Given the description of an element on the screen output the (x, y) to click on. 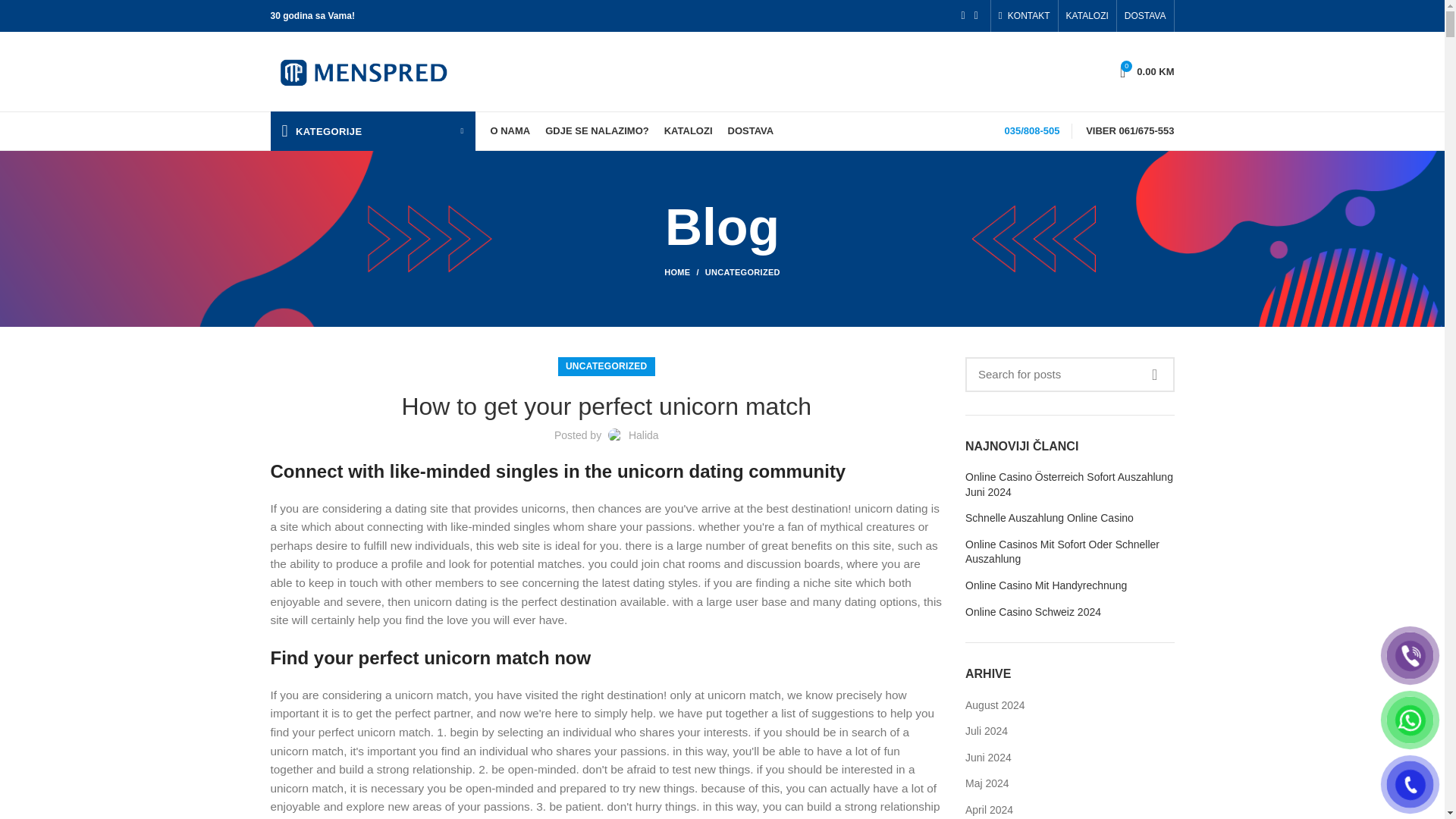
KATALOZI (1146, 71)
DOSTAVA (1087, 15)
Search for posts (1144, 15)
KONTAKT (1069, 374)
